Given the description of an element on the screen output the (x, y) to click on. 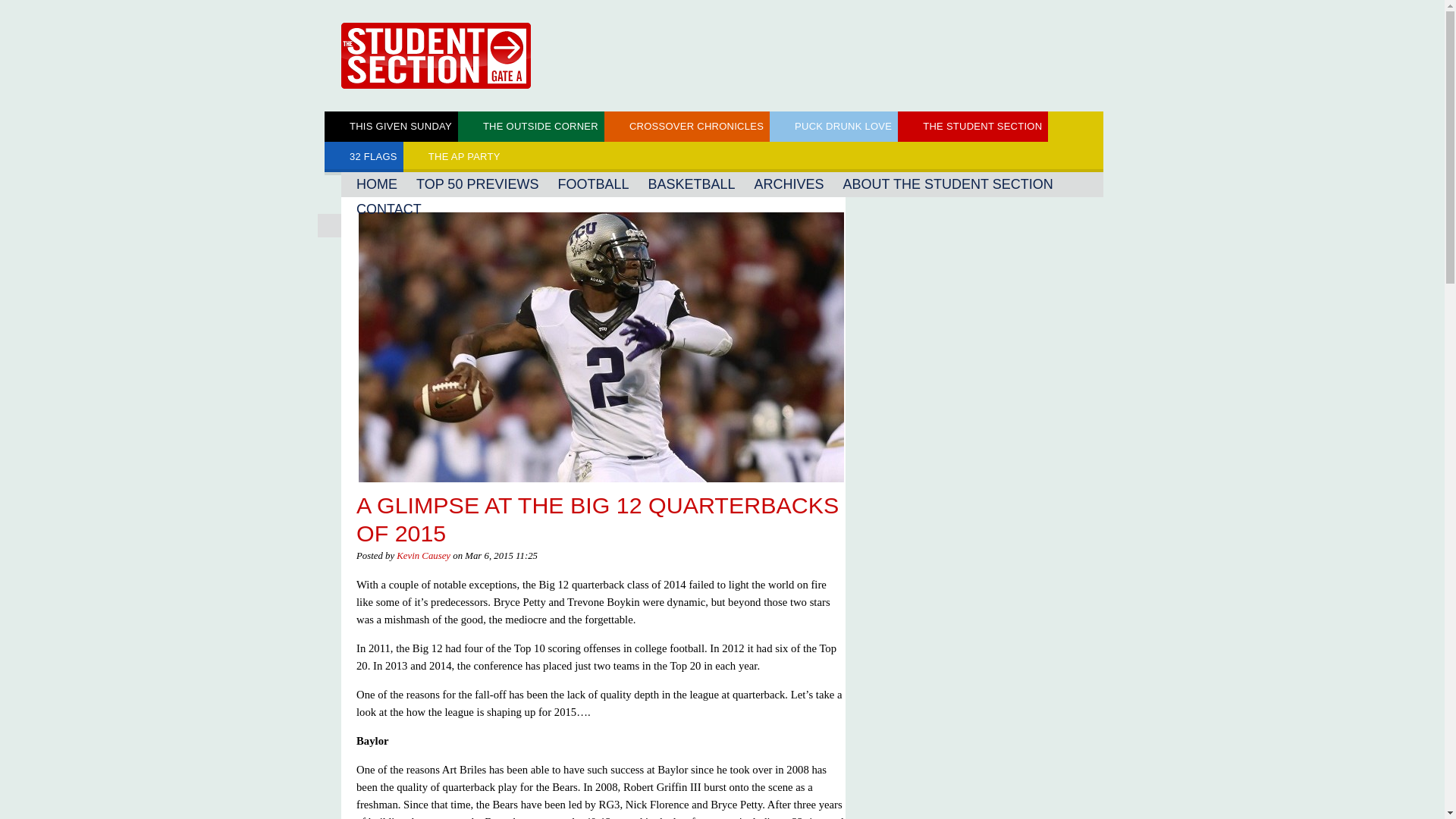
THIS GIVEN SUNDAY (391, 126)
HOME (376, 184)
THE OUTSIDE CORNER (531, 126)
Kevin Causey (422, 555)
PUCK DRUNK LOVE (834, 126)
THE AP PARTY (454, 156)
TOP 50 PREVIEWS (477, 184)
FOOTBALL (593, 184)
ABOUT THE STUDENT SECTION (948, 184)
BASKETBALL (691, 184)
